Given the description of an element on the screen output the (x, y) to click on. 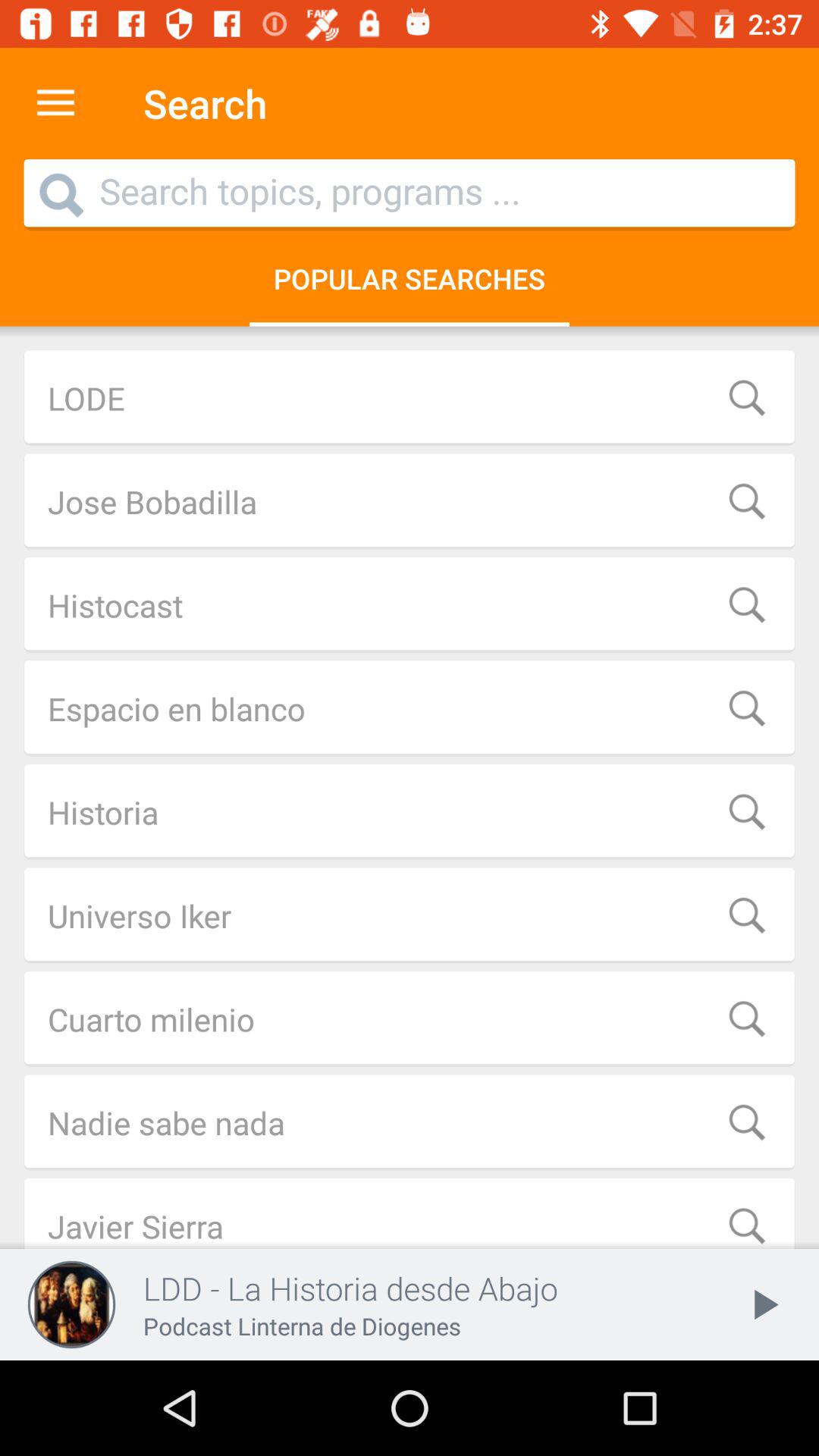
jump to the nadie sabe nada item (409, 1122)
